Given the description of an element on the screen output the (x, y) to click on. 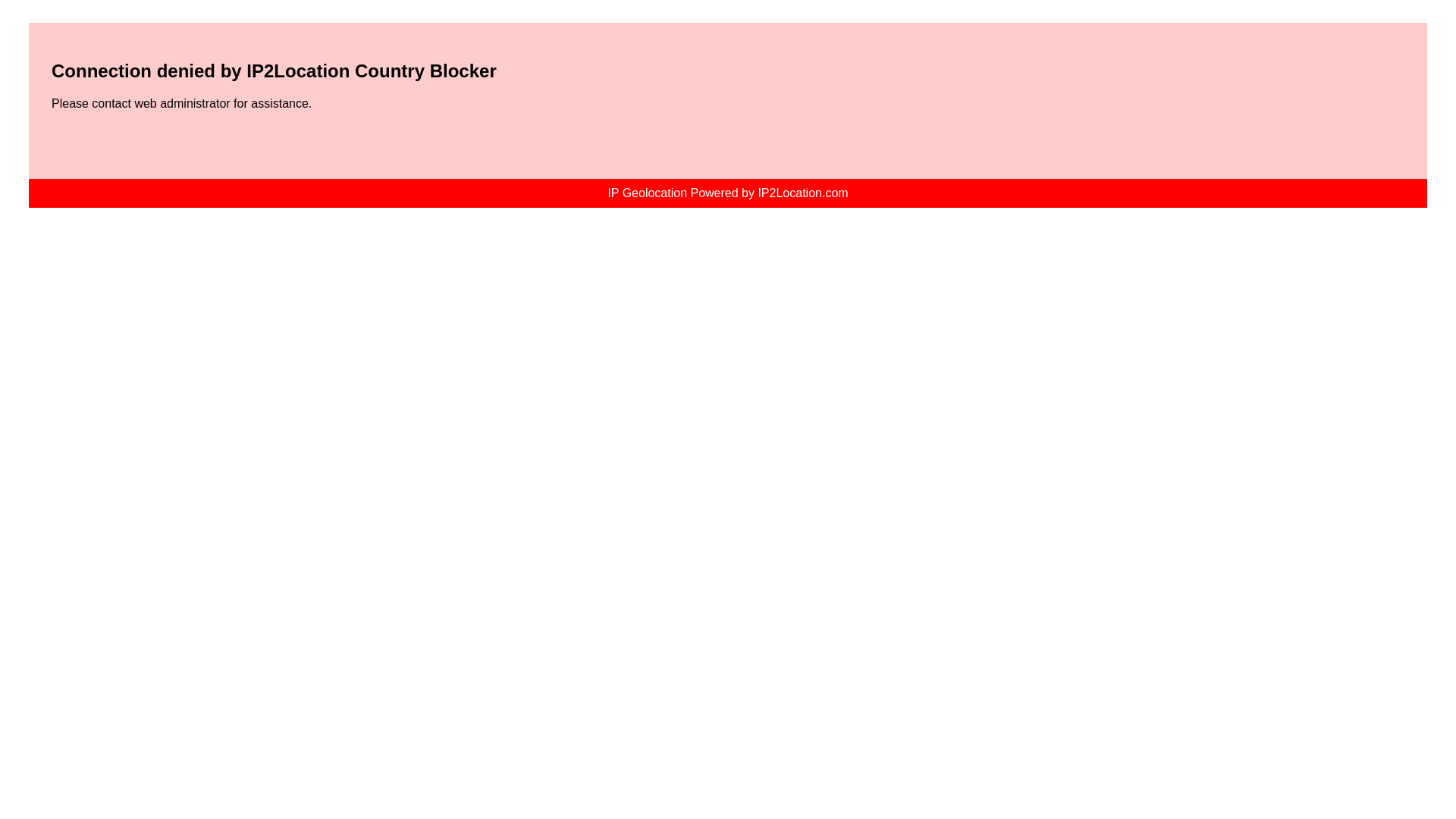
IP Geolocation Powered by IP2Location.com (727, 192)
